Given the description of an element on the screen output the (x, y) to click on. 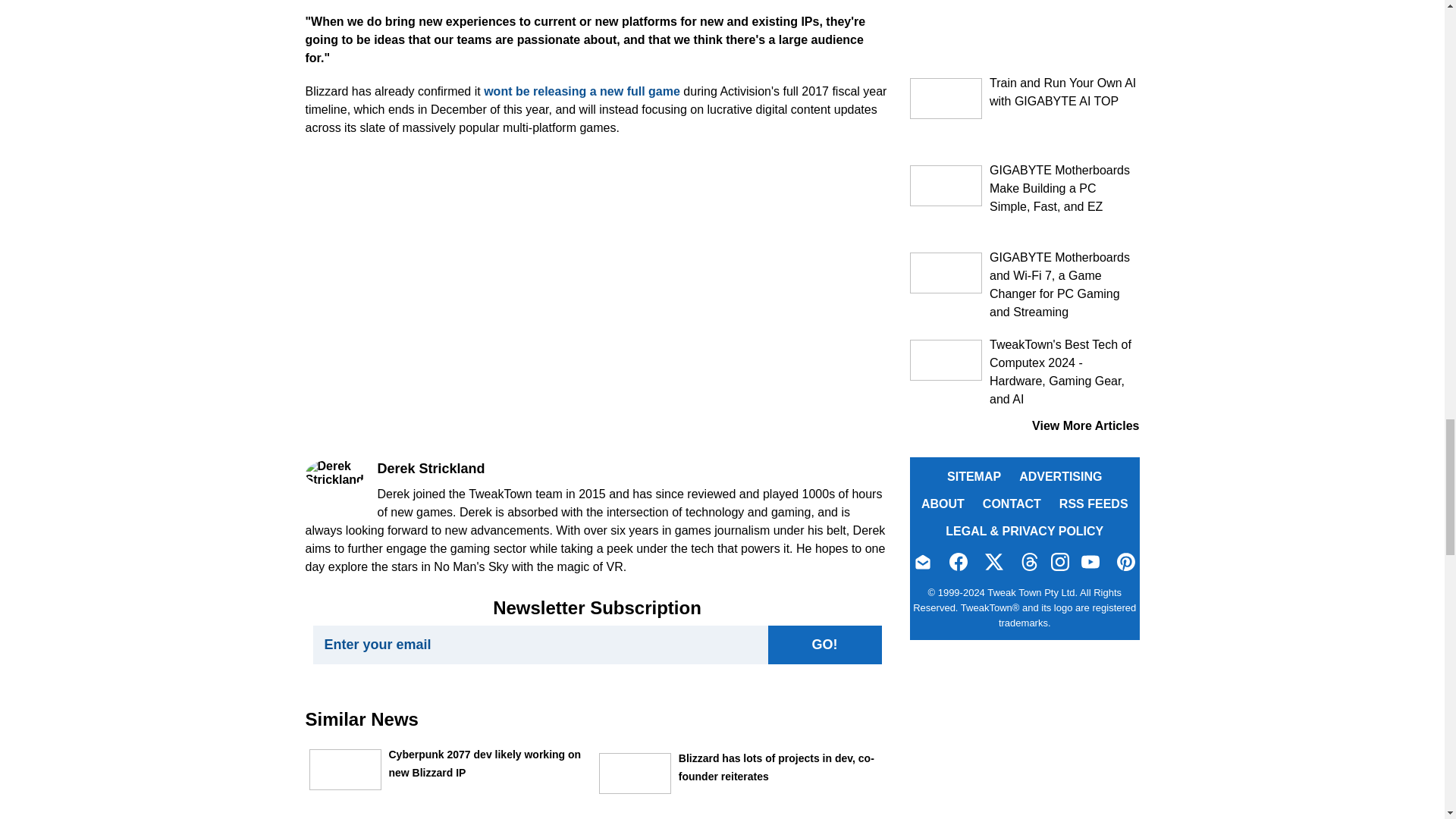
GO! (823, 644)
Submit your email address (823, 644)
Derek Strickland (334, 472)
Blizzard has lots of projects in dev, co-founder reiterates (634, 772)
Enter your email (540, 644)
Cyberpunk 2077 dev likely working on new Blizzard IP (344, 769)
